Given the description of an element on the screen output the (x, y) to click on. 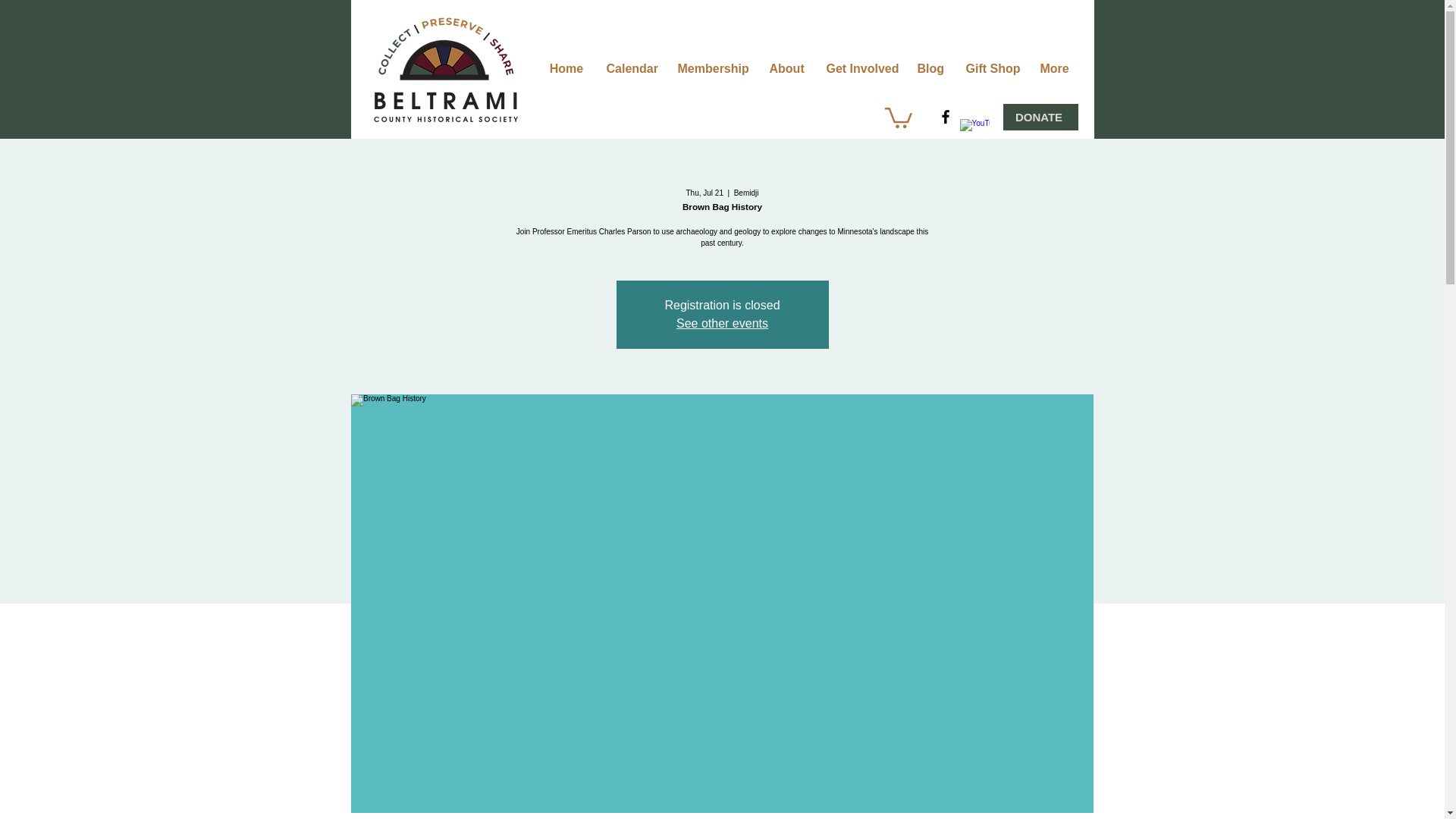
Membership (711, 68)
Home (566, 68)
Calendar (629, 68)
Blog (929, 68)
About (786, 68)
DONATE (1040, 117)
Gift Shop (990, 68)
See other events (722, 323)
Get Involved (859, 68)
